Given the description of an element on the screen output the (x, y) to click on. 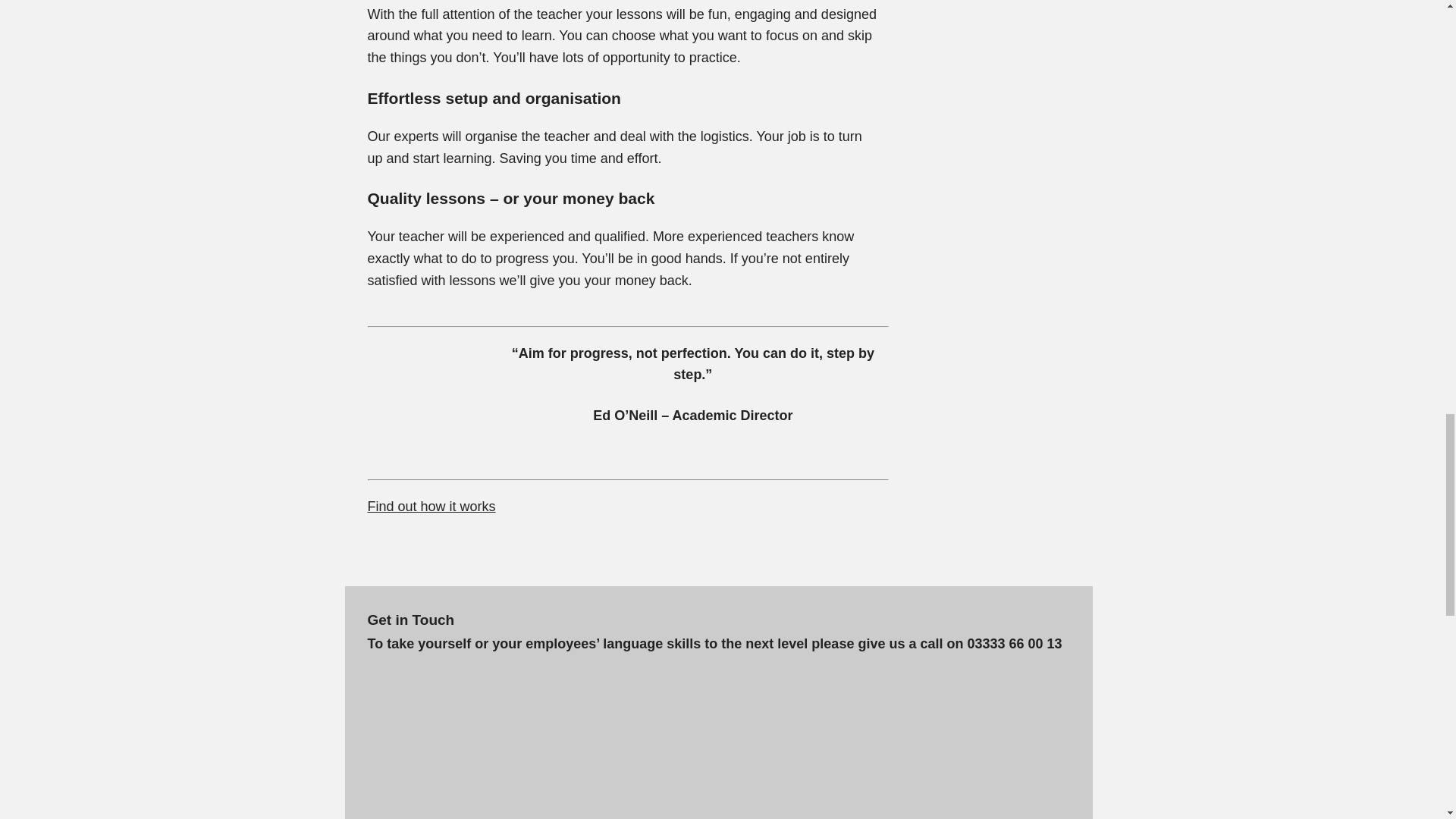
Find out how it works (430, 506)
